Given the description of an element on the screen output the (x, y) to click on. 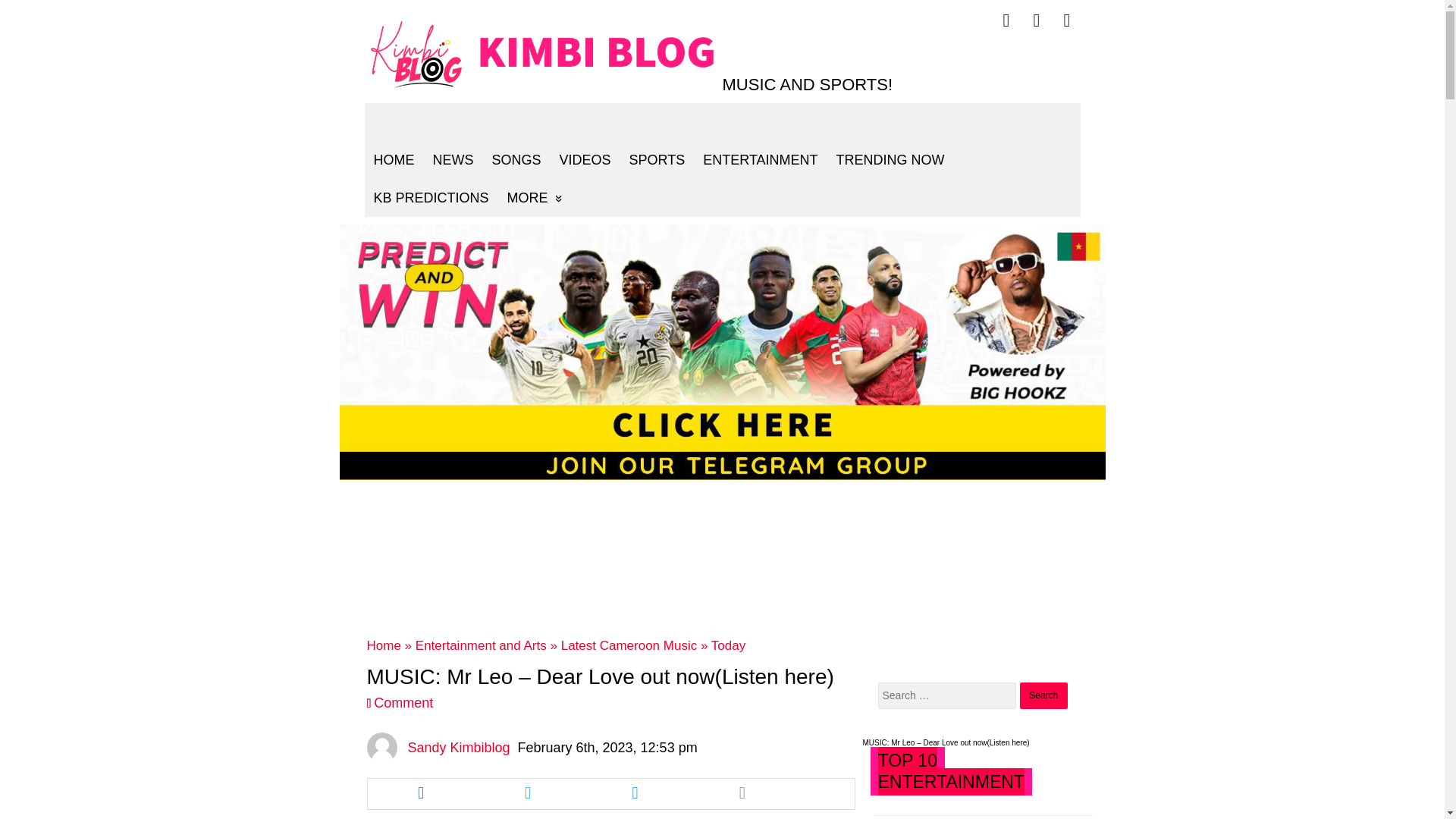
Search (1043, 695)
Gravatar for Sandy Kimbiblog (381, 747)
SONGS (515, 159)
MORE (534, 198)
TRENDING NOW (890, 159)
Latest Cameroon Music (628, 645)
Advertisement (722, 555)
Share this article via messenger (634, 793)
Comment (403, 702)
SPORTS (657, 159)
Share this article via twitter (527, 793)
KB PREDICTIONS (430, 198)
ENTERTAINMENT (760, 159)
